Given the description of an element on the screen output the (x, y) to click on. 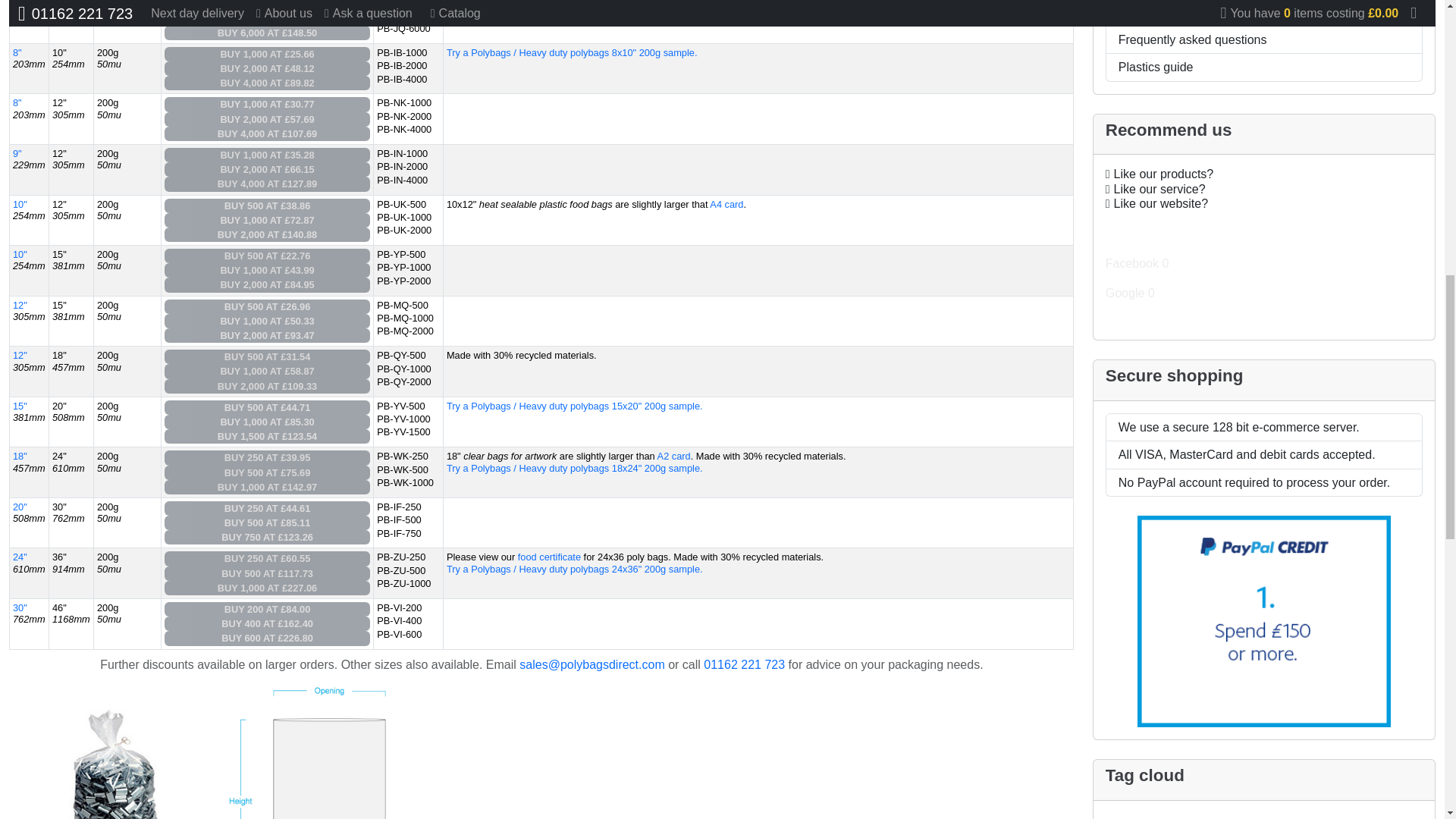
Heavy duty poly bags (108, 751)
Facebook (1263, 233)
Polythene bag (325, 751)
